Given the description of an element on the screen output the (x, y) to click on. 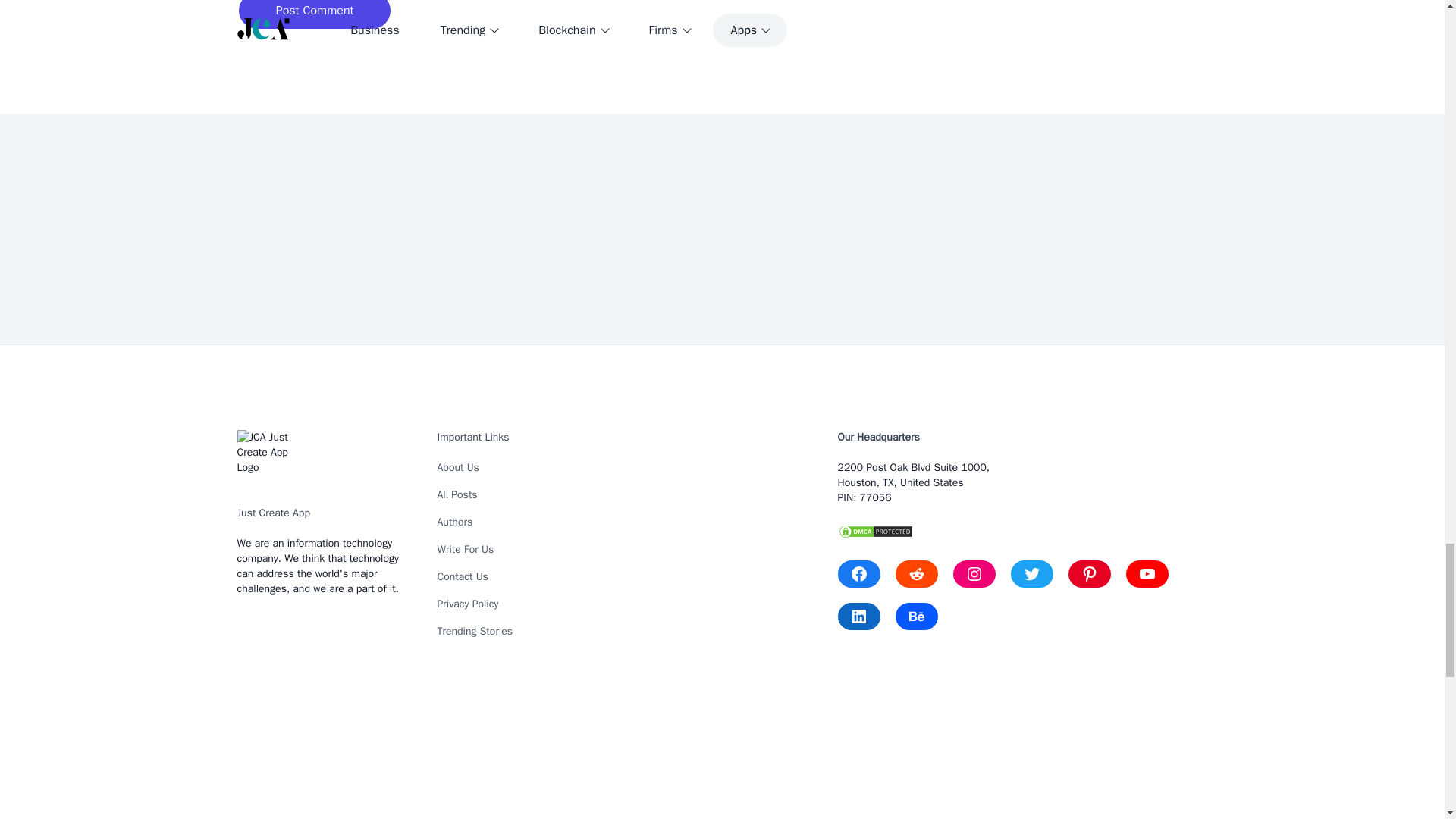
Post Comment (314, 10)
